Given the description of an element on the screen output the (x, y) to click on. 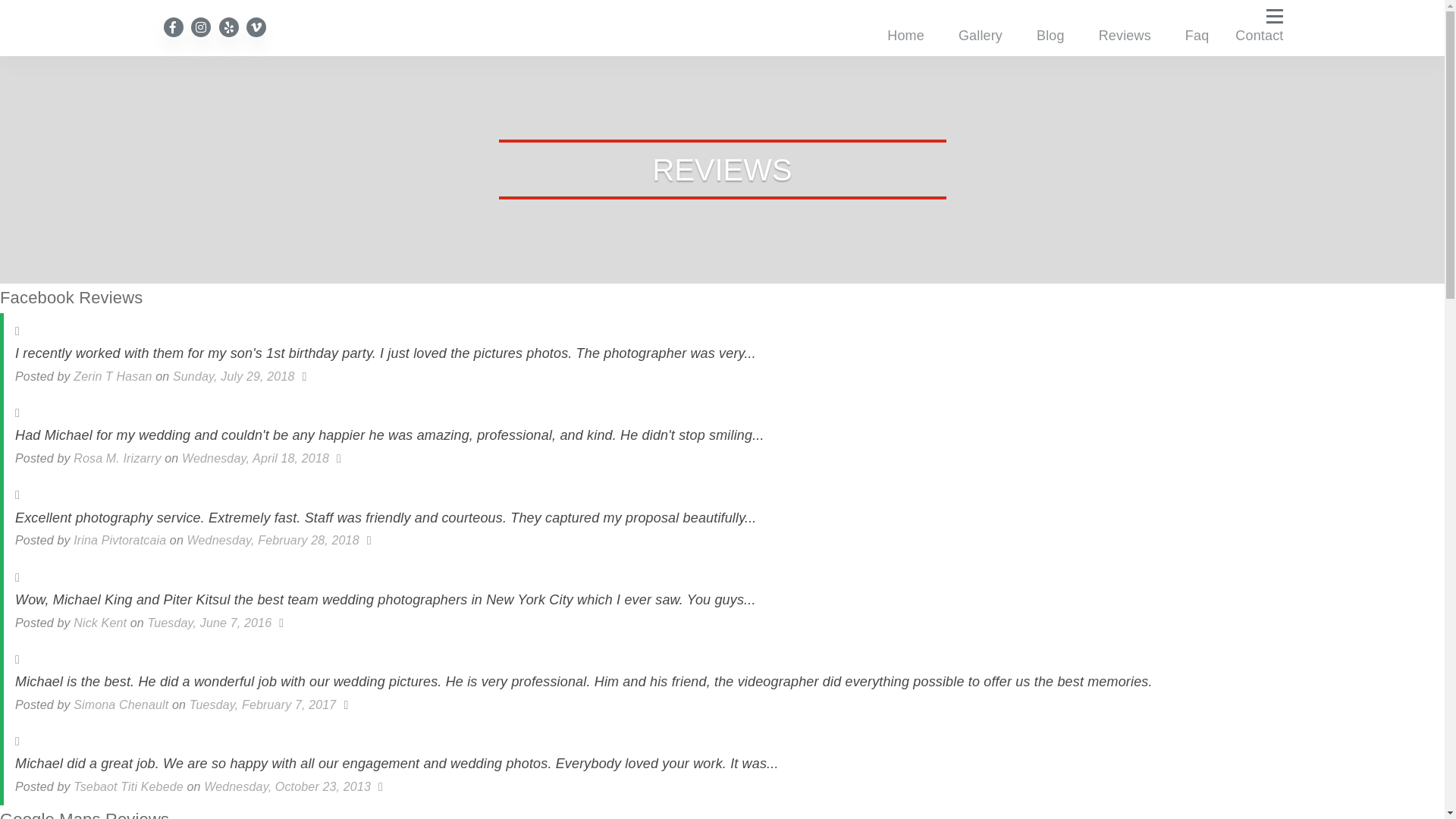
Wednesday, October 23, 2013 Element type: text (286, 786)
Faq Element type: text (1197, 36)
Home Element type: text (905, 36)
Sunday, July 29, 2018 Element type: text (233, 376)
Tuesday, June 7, 2016 Element type: text (209, 622)
Wednesday, April 18, 2018 Element type: text (255, 457)
Zerin T Hasan Element type: text (112, 376)
Gallery Element type: text (980, 36)
Irina Pivtoratcaia Element type: text (119, 539)
Nick Kent Element type: text (99, 622)
Tsebaot Titi Kebede Element type: text (128, 786)
Wednesday, February 28, 2018 Element type: text (273, 539)
Reviews Element type: text (1124, 36)
Tuesday, February 7, 2017 Element type: text (262, 704)
Rosa M. Irizarry Element type: text (116, 457)
Simona Chenault Element type: text (120, 704)
Blog Element type: text (1050, 36)
Contact Element type: text (1259, 36)
